Given the description of an element on the screen output the (x, y) to click on. 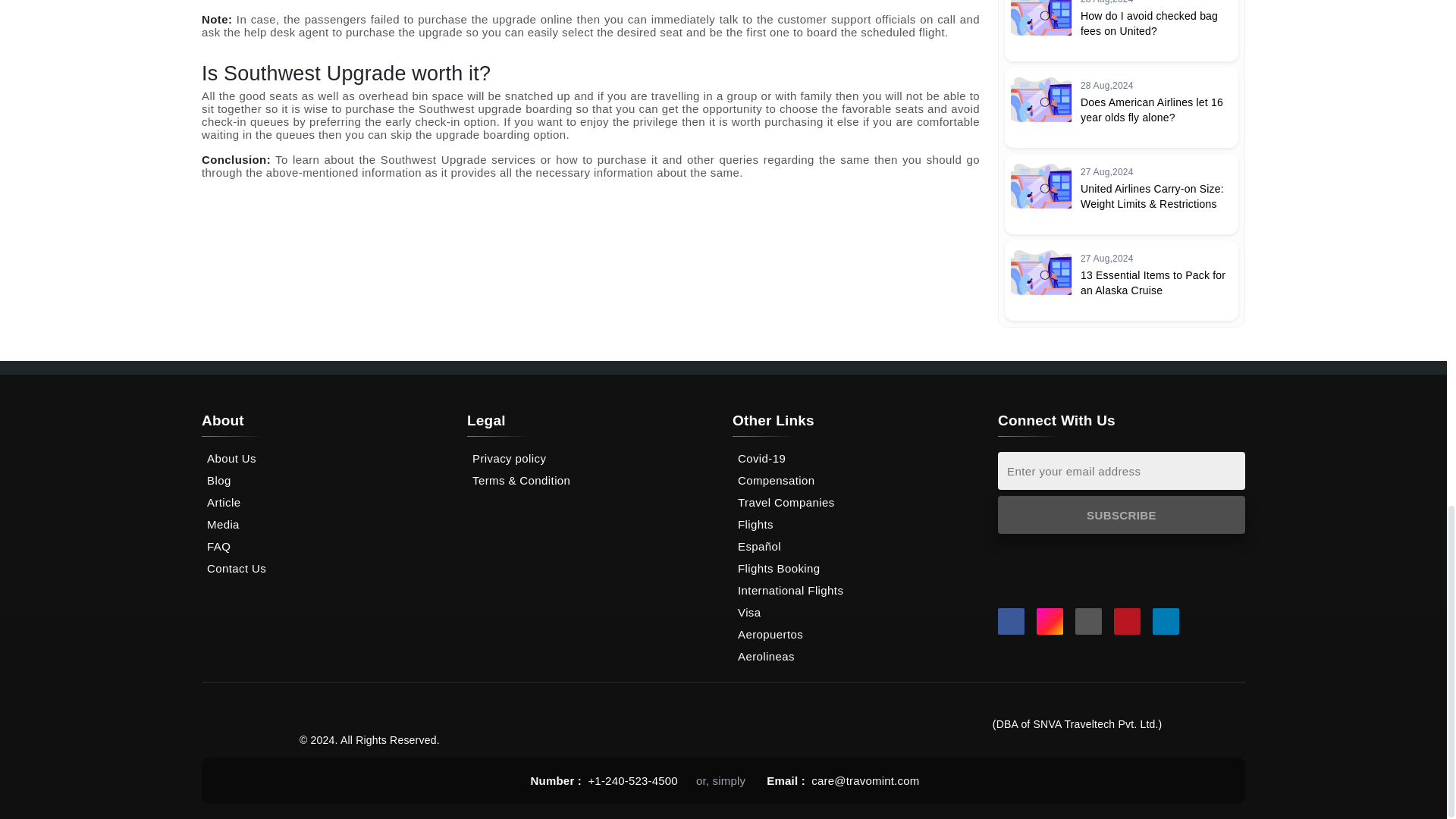
Media (325, 523)
Article (325, 502)
Travel Companies (855, 502)
FAQ (325, 545)
Compensation (855, 480)
About Us (325, 458)
Contact Us (325, 567)
International Flights (855, 590)
Blog (325, 480)
